Given the description of an element on the screen output the (x, y) to click on. 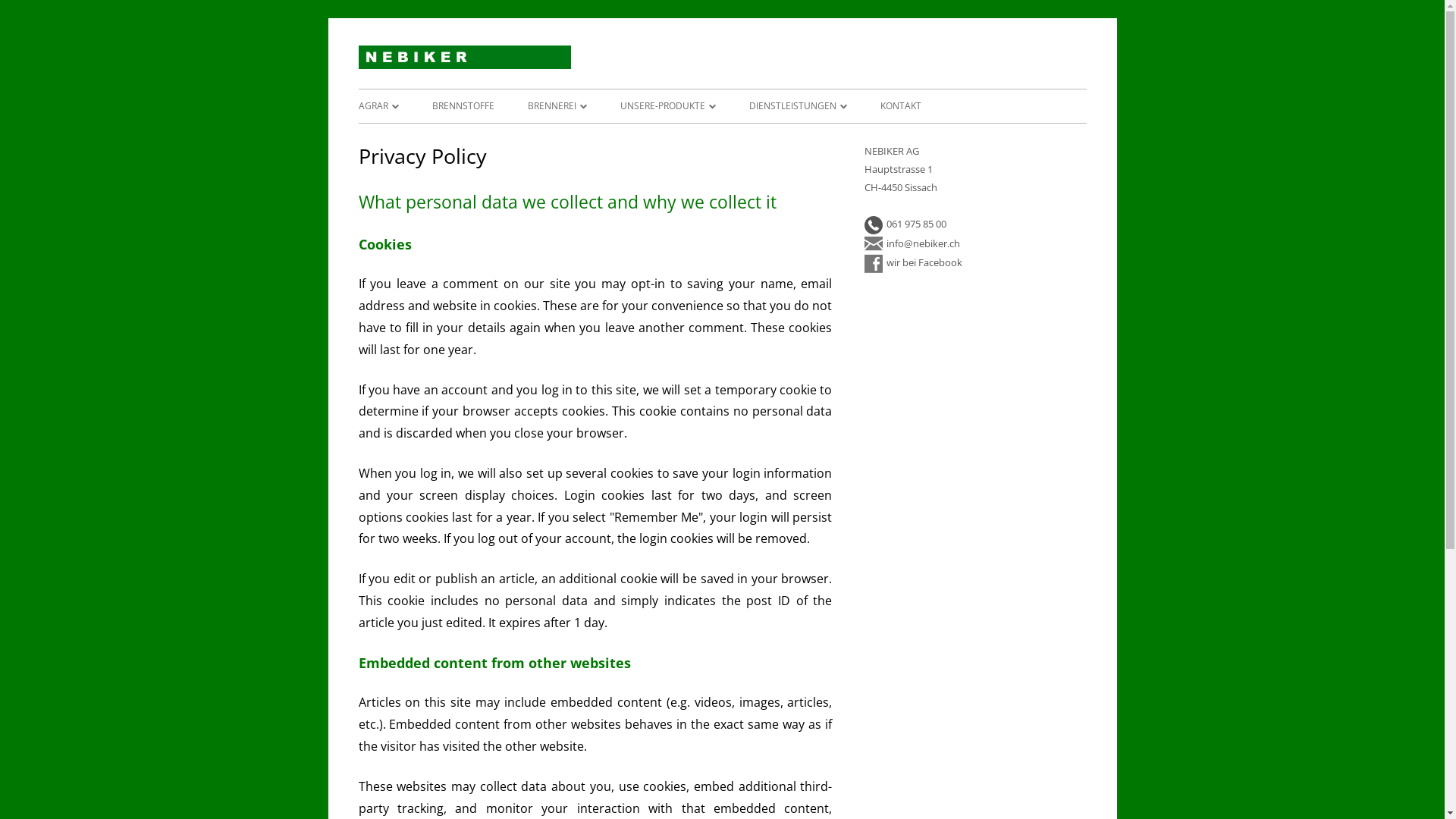
BRENNEREI Element type: text (556, 105)
GENERAL SUTTER KIRSCH Element type: text (695, 137)
FREMDLAGERHALTUNG Element type: text (824, 137)
DIENSTLEISTUNGEN Element type: text (798, 105)
BRENNSTOFFE Element type: text (463, 105)
Skip to content Element type: text (837, 45)
info@nebiker.ch Element type: text (912, 243)
UNSERE-PRODUKTE Element type: text (667, 105)
NEBIKER AG Element type: text (643, 63)
LOHNBRENNEN Element type: text (603, 137)
KONTAKT Element type: text (899, 105)
wir bei Facebook Element type: text (913, 262)
NEBIKER-FUTTER Element type: text (433, 137)
NEBIKER AG Element type: hover (463, 64)
AGRAR Element type: text (377, 105)
